Given the description of an element on the screen output the (x, y) to click on. 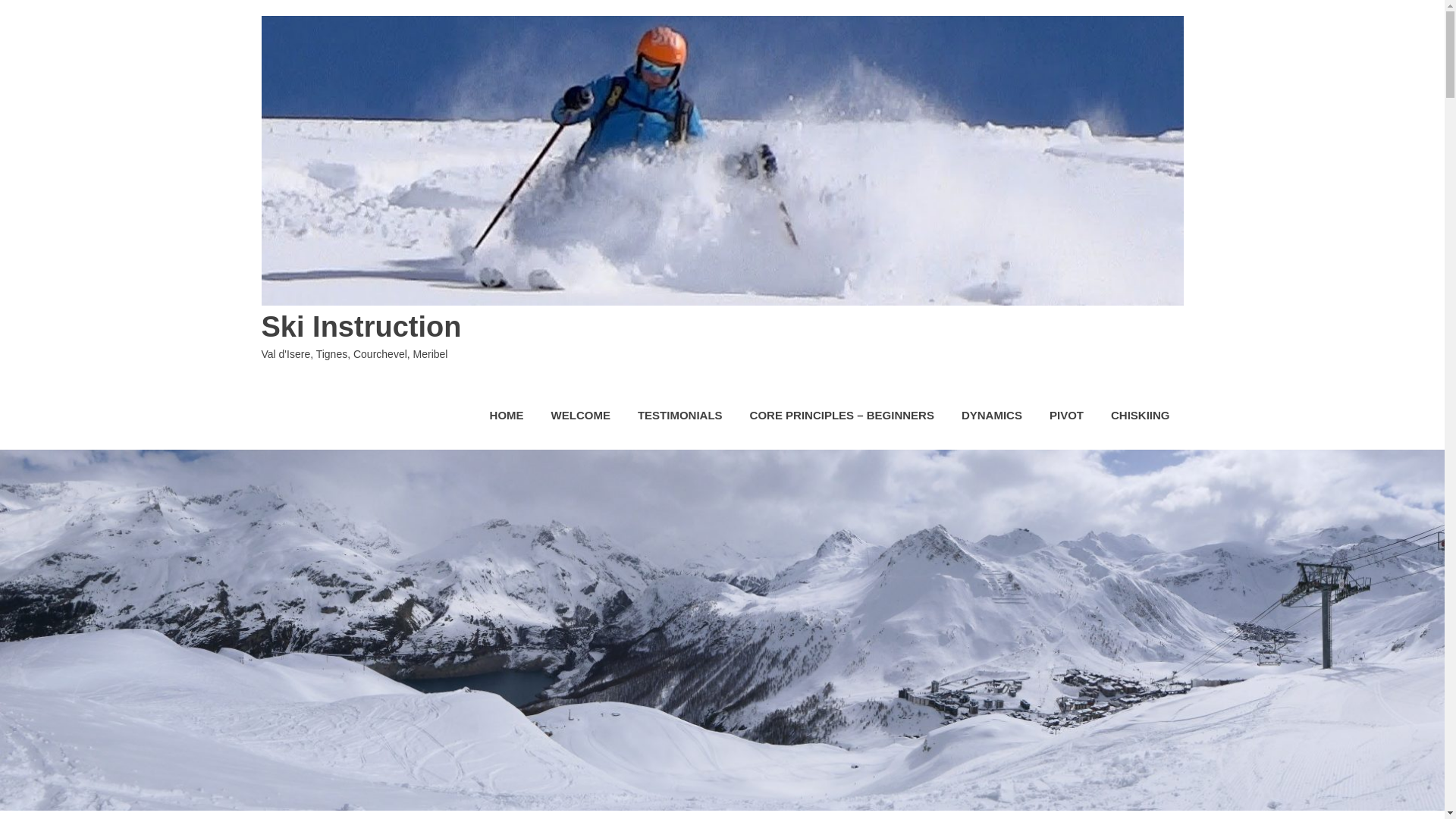
HOME (506, 415)
PIVOT (1066, 415)
TESTIMONIALS (680, 415)
Ski Instruction (360, 327)
WELCOME (580, 415)
DYNAMICS (991, 415)
CHISKIING (1140, 415)
